Given the description of an element on the screen output the (x, y) to click on. 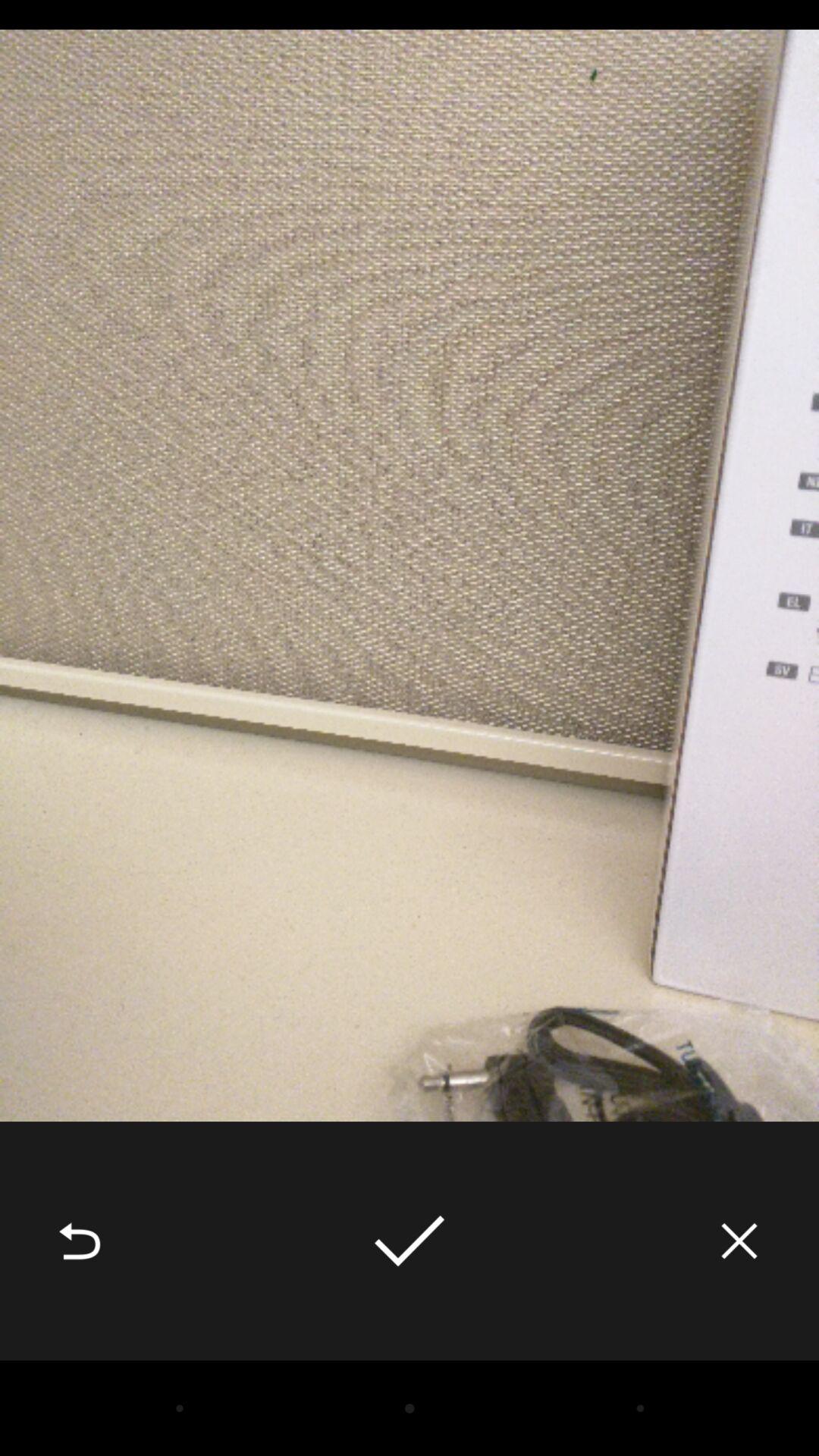
select the icon at the bottom left corner (79, 1240)
